Given the description of an element on the screen output the (x, y) to click on. 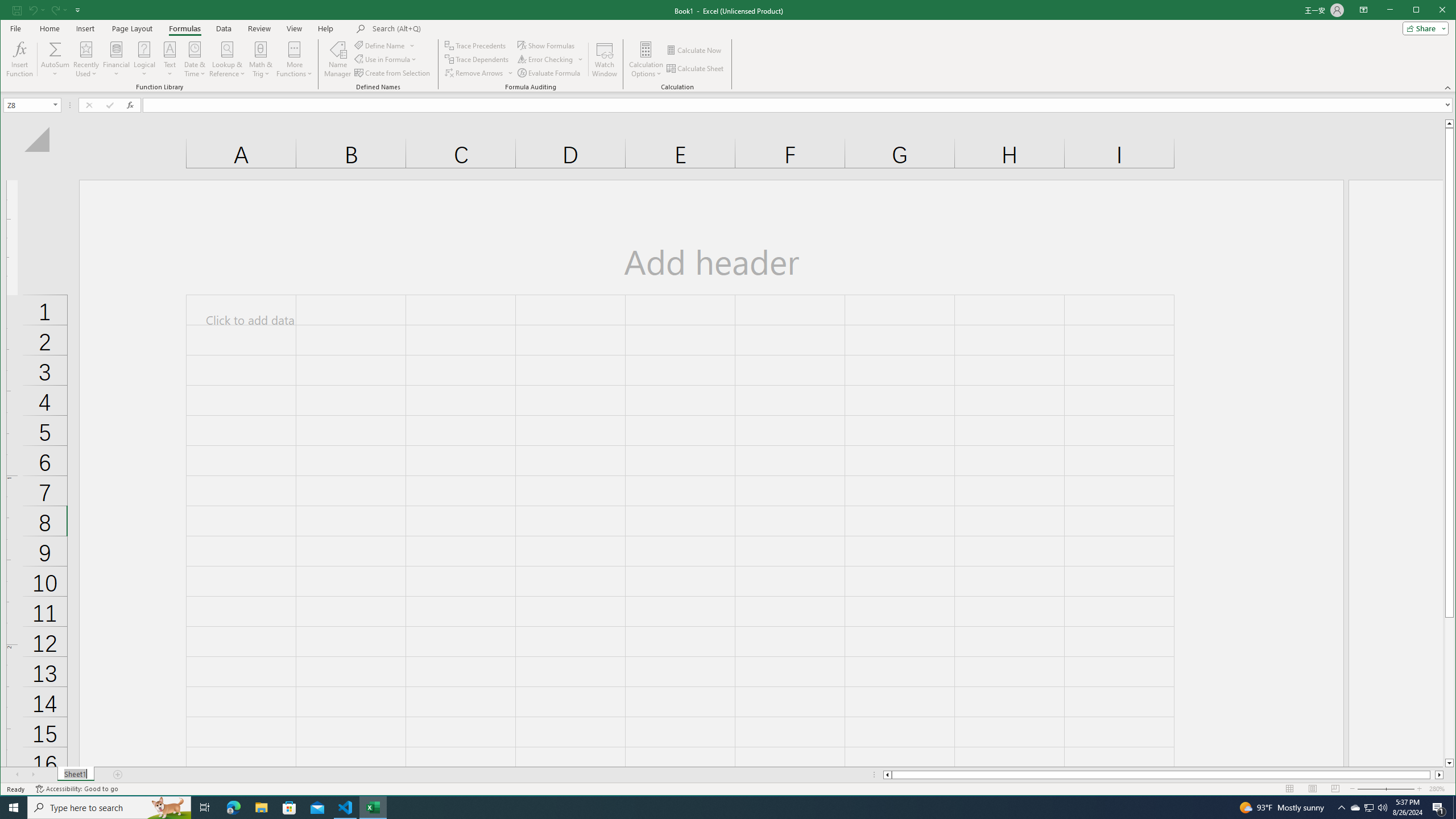
Maximize (1432, 11)
Type here to search (108, 807)
Calculate Sheet (1355, 807)
Excel - 1 running window (696, 68)
Error Checking... (373, 807)
Visual Studio Code - 1 running window (545, 59)
Sum (345, 807)
Notification Chevron (55, 48)
Recently Used (1341, 807)
